Given the description of an element on the screen output the (x, y) to click on. 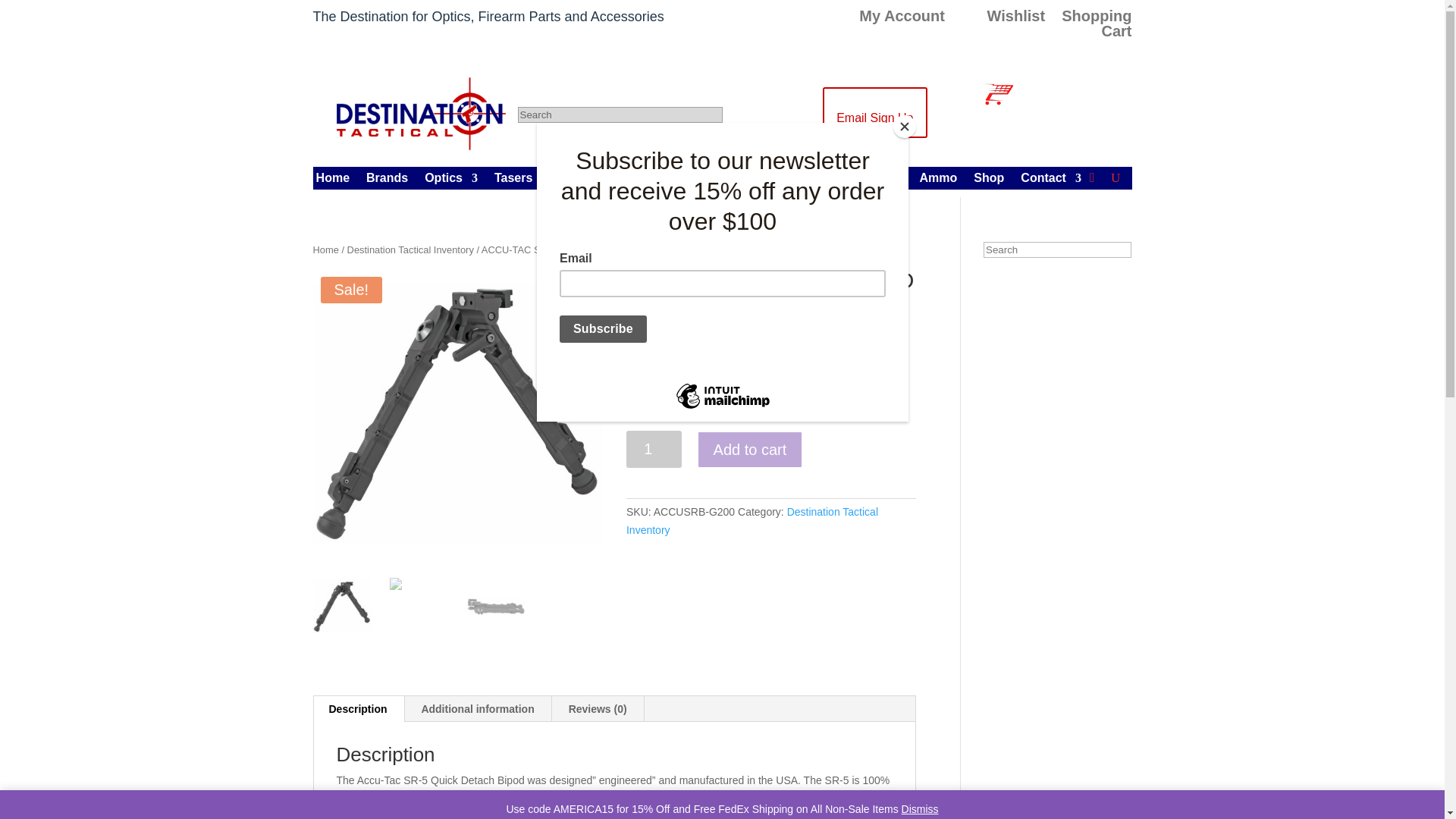
Optics (451, 180)
Destination Tactical Shopping Cart 75x75 (997, 94)
Destination Tactical Logo (421, 113)
ACCU-TAC SR-5 G2 BIPOD BLK (457, 413)
Accessories (787, 180)
1 (653, 448)
Brands (386, 180)
Email Sign Up (874, 112)
Pistol Parts (687, 180)
AR15 Parts (588, 180)
